Given the description of an element on the screen output the (x, y) to click on. 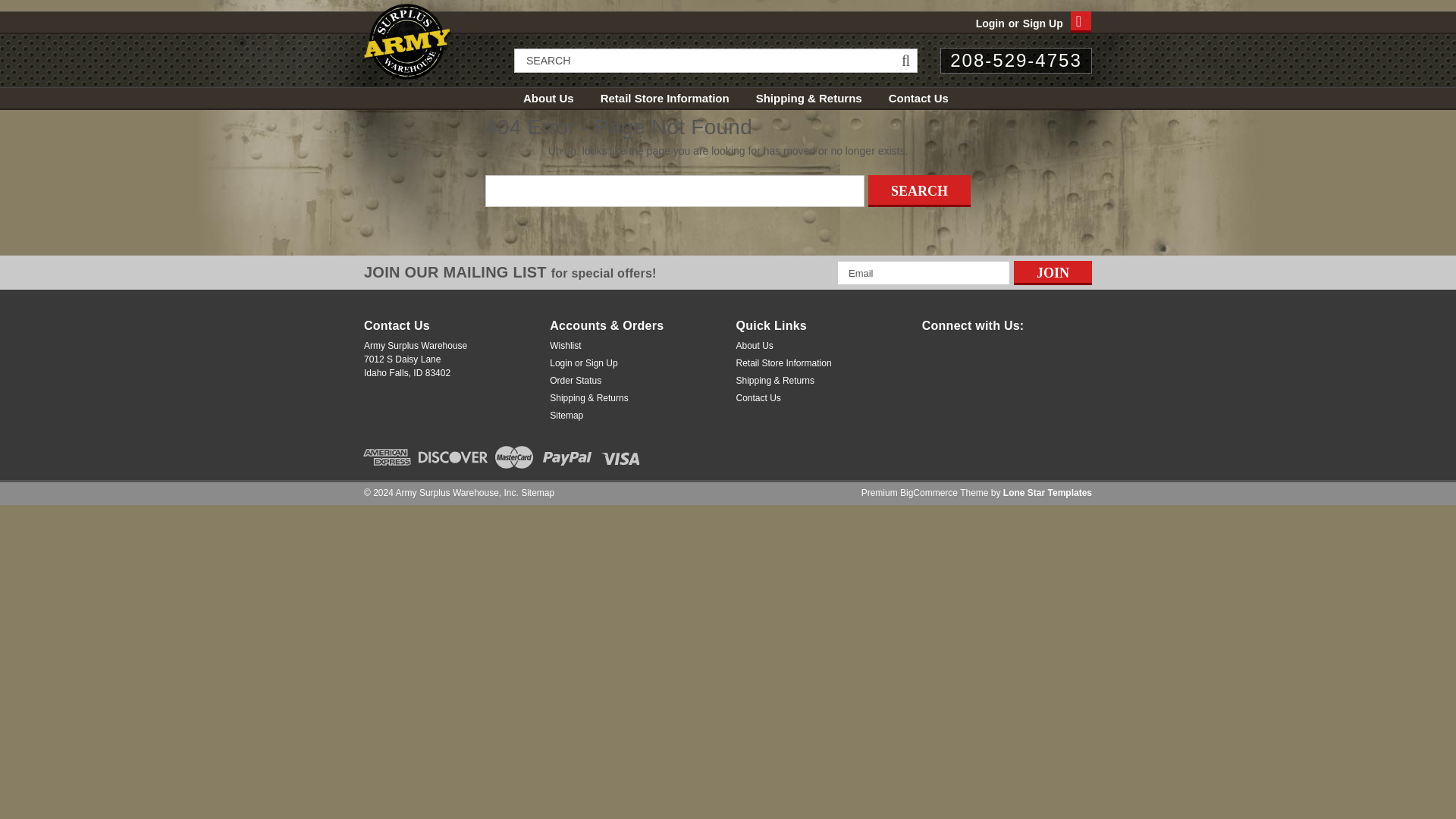
Search (919, 191)
Join (1052, 273)
Contact Us (931, 97)
Retail Store Information (677, 97)
208-529-4753 (1015, 59)
Login (989, 23)
Army Surplus Warehouse, Inc. (408, 41)
About Us (560, 97)
Sign Up (1040, 23)
